Given the description of an element on the screen output the (x, y) to click on. 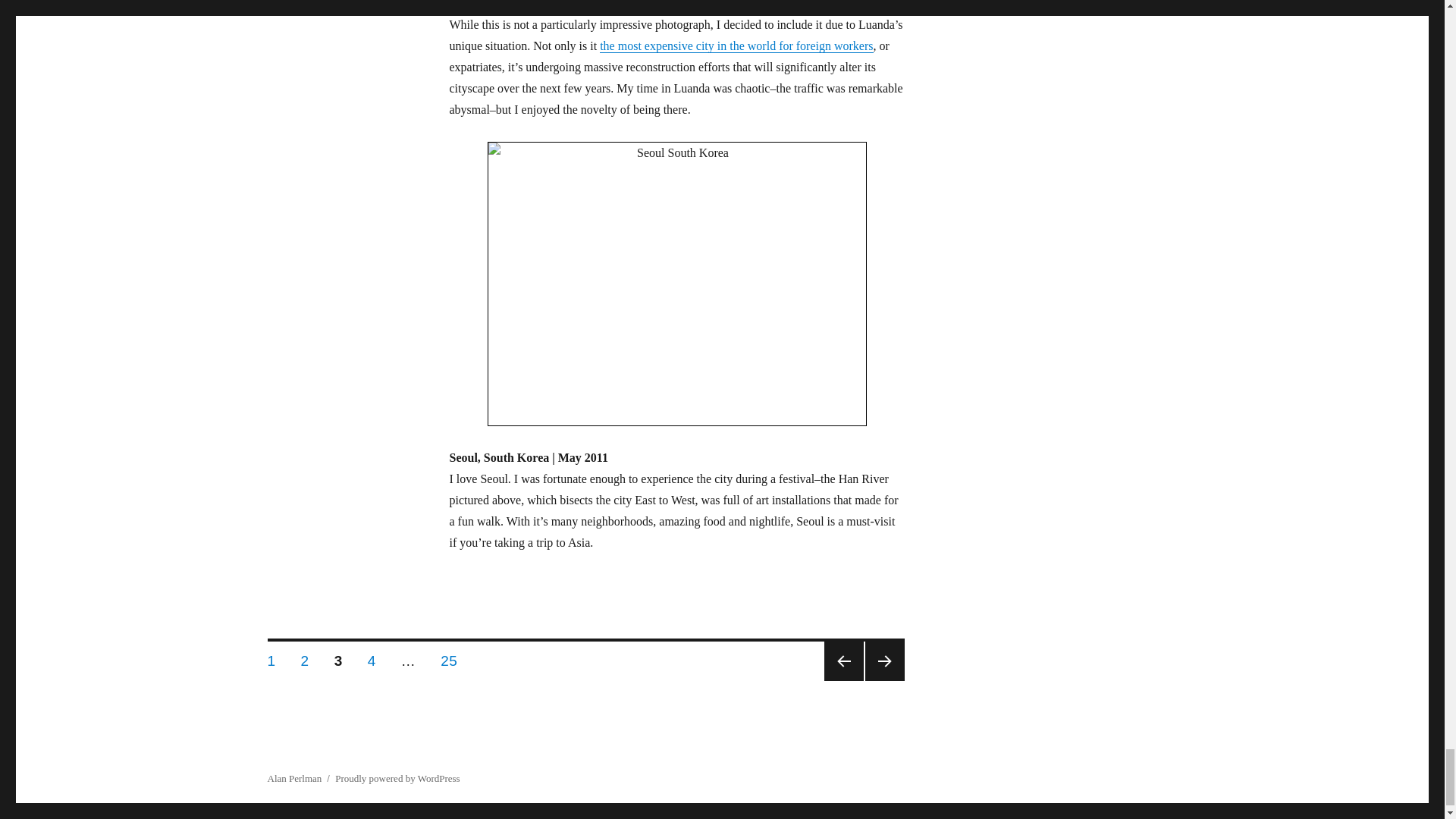
Seoul South Korea (676, 283)
